Given the description of an element on the screen output the (x, y) to click on. 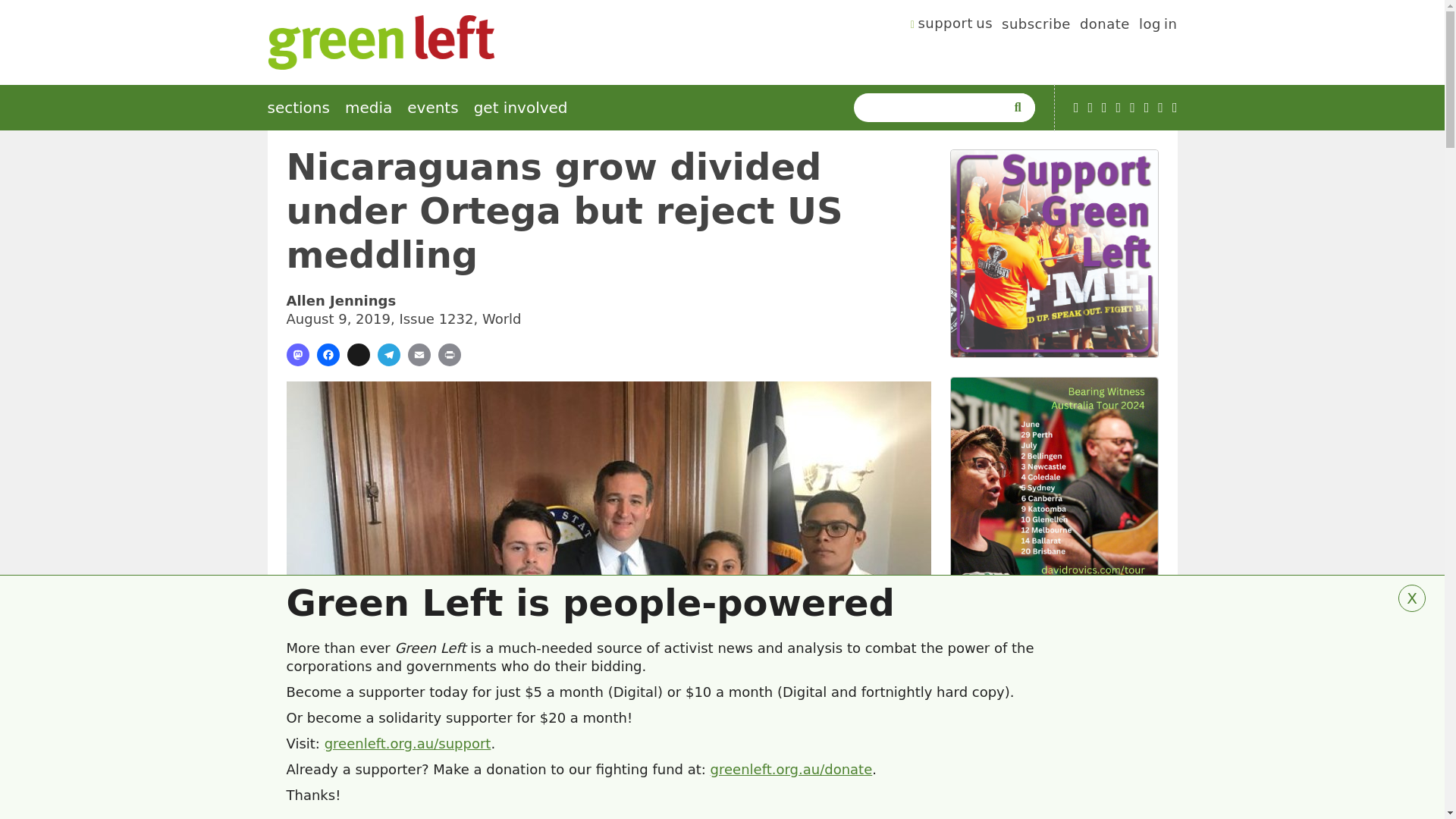
log in (1157, 26)
TikTok (1118, 107)
donate (1104, 26)
Share on X (358, 354)
Podcast (1090, 107)
Share on Facebook (328, 354)
YouTube (1076, 107)
support us (951, 26)
subscribe (1035, 26)
Share on Telegram (388, 354)
Print (449, 354)
Enter the terms you wish to search for. (932, 107)
Facebook (1104, 107)
Share on Mastondon (297, 354)
events (432, 107)
